Given the description of an element on the screen output the (x, y) to click on. 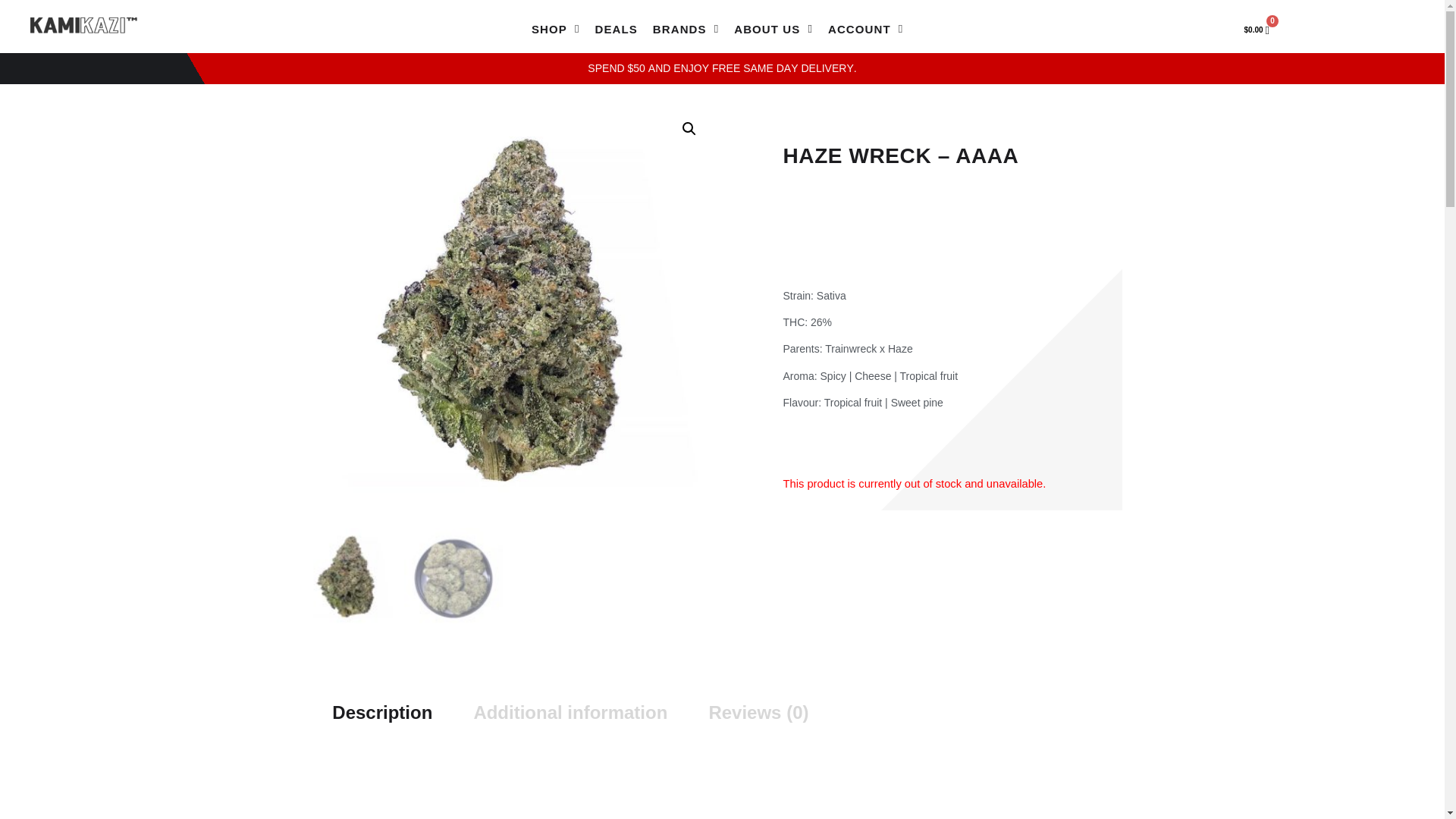
SHOP (556, 29)
